Given the description of an element on the screen output the (x, y) to click on. 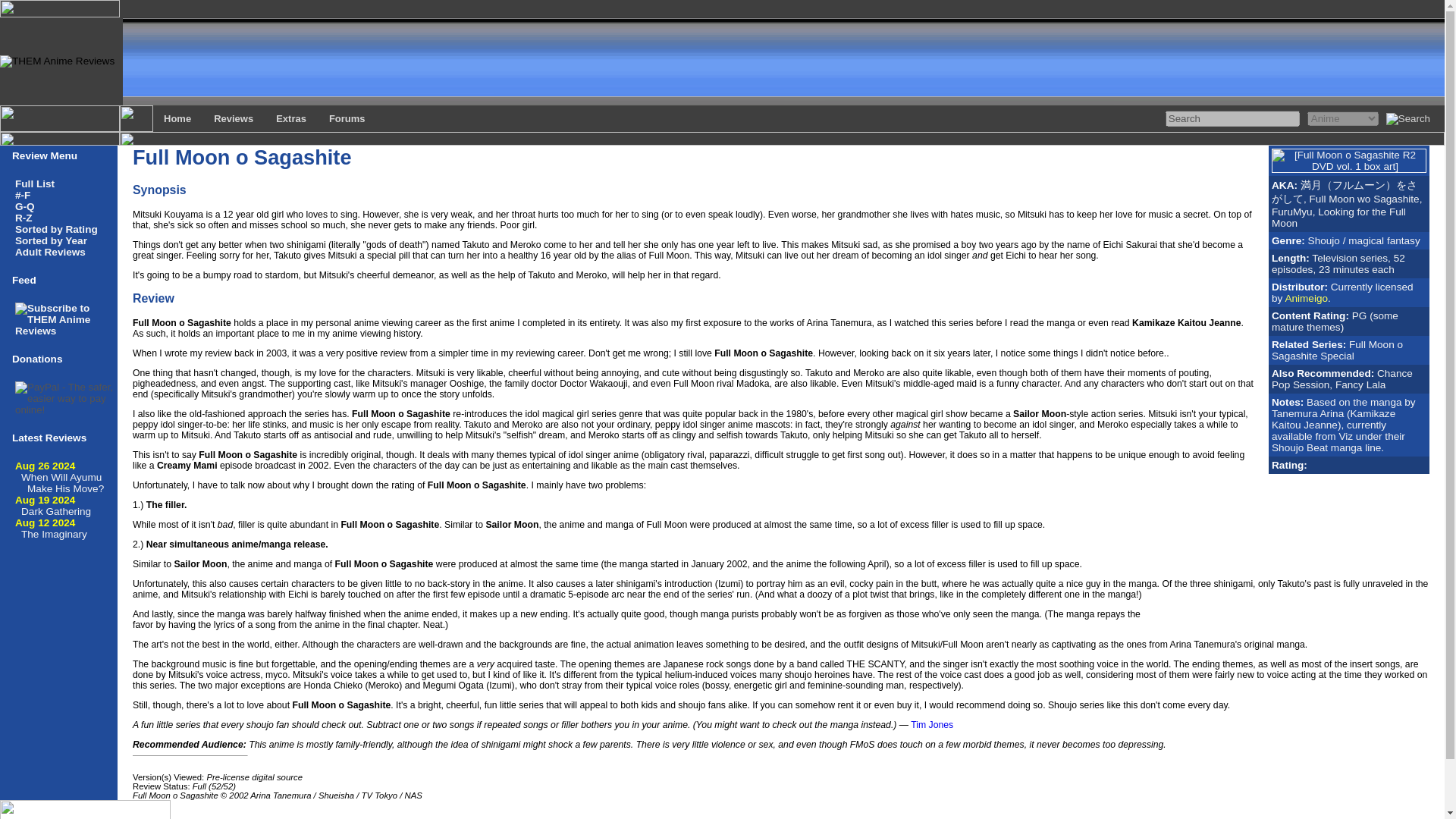
G-Q (24, 206)
Reviews (233, 118)
Search (1233, 118)
Home (176, 118)
Search (1233, 118)
Dark Gathering (55, 511)
Sorted by Rating (55, 229)
Forums (347, 118)
Full List (34, 183)
Tim Jones (932, 724)
